Given the description of an element on the screen output the (x, y) to click on. 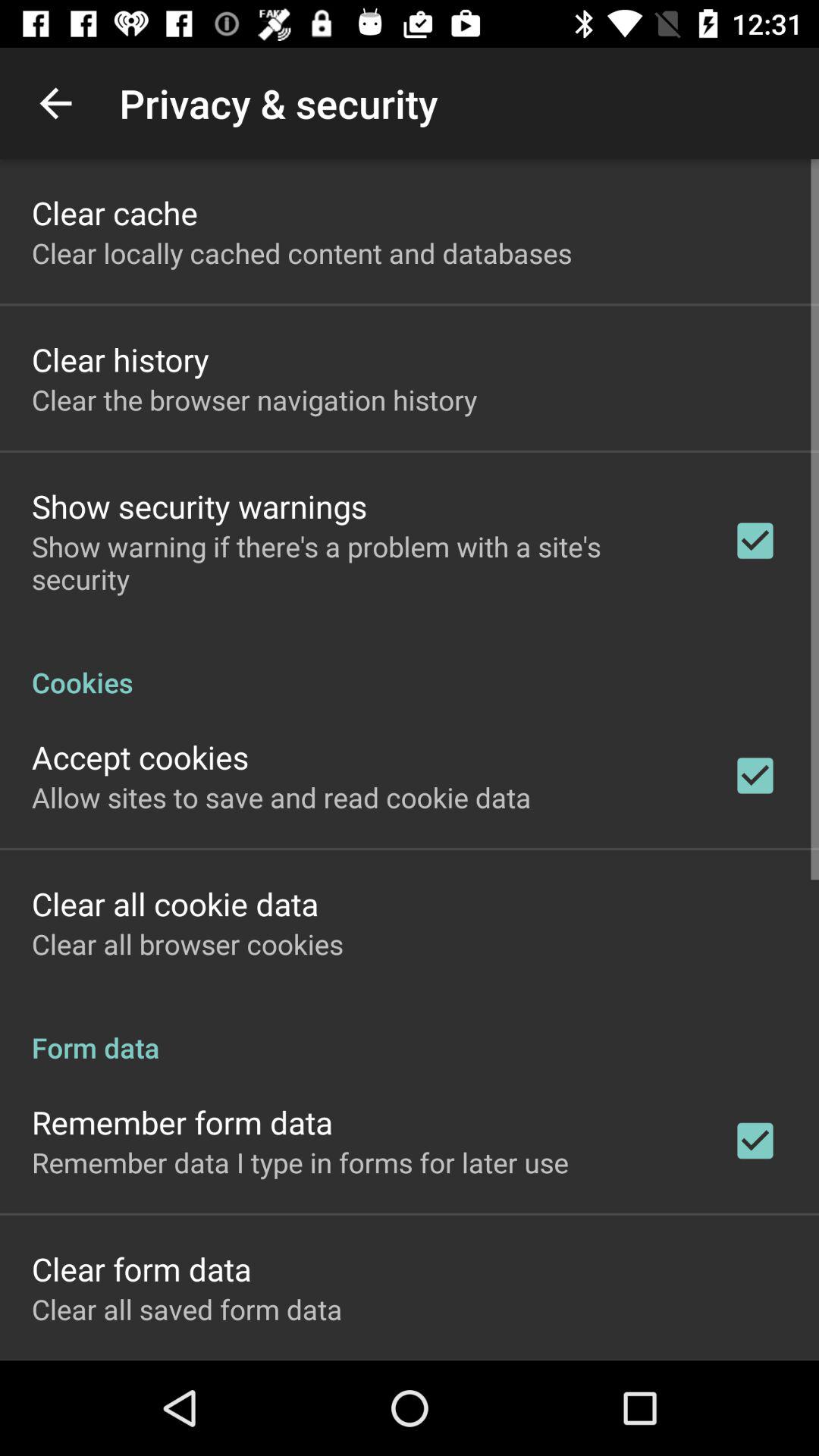
jump until the clear cache icon (114, 212)
